Given the description of an element on the screen output the (x, y) to click on. 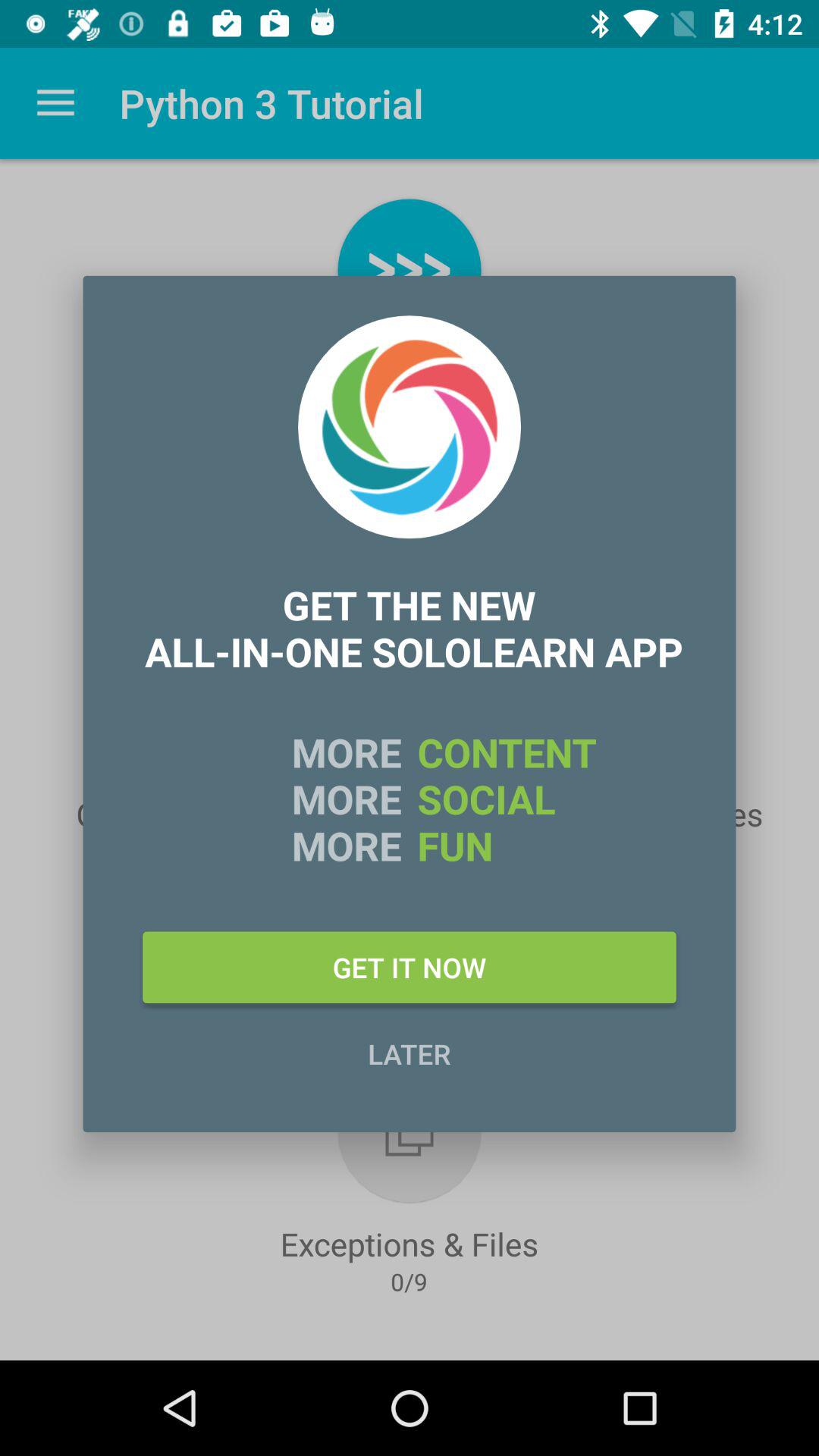
turn on later (409, 1053)
